Given the description of an element on the screen output the (x, y) to click on. 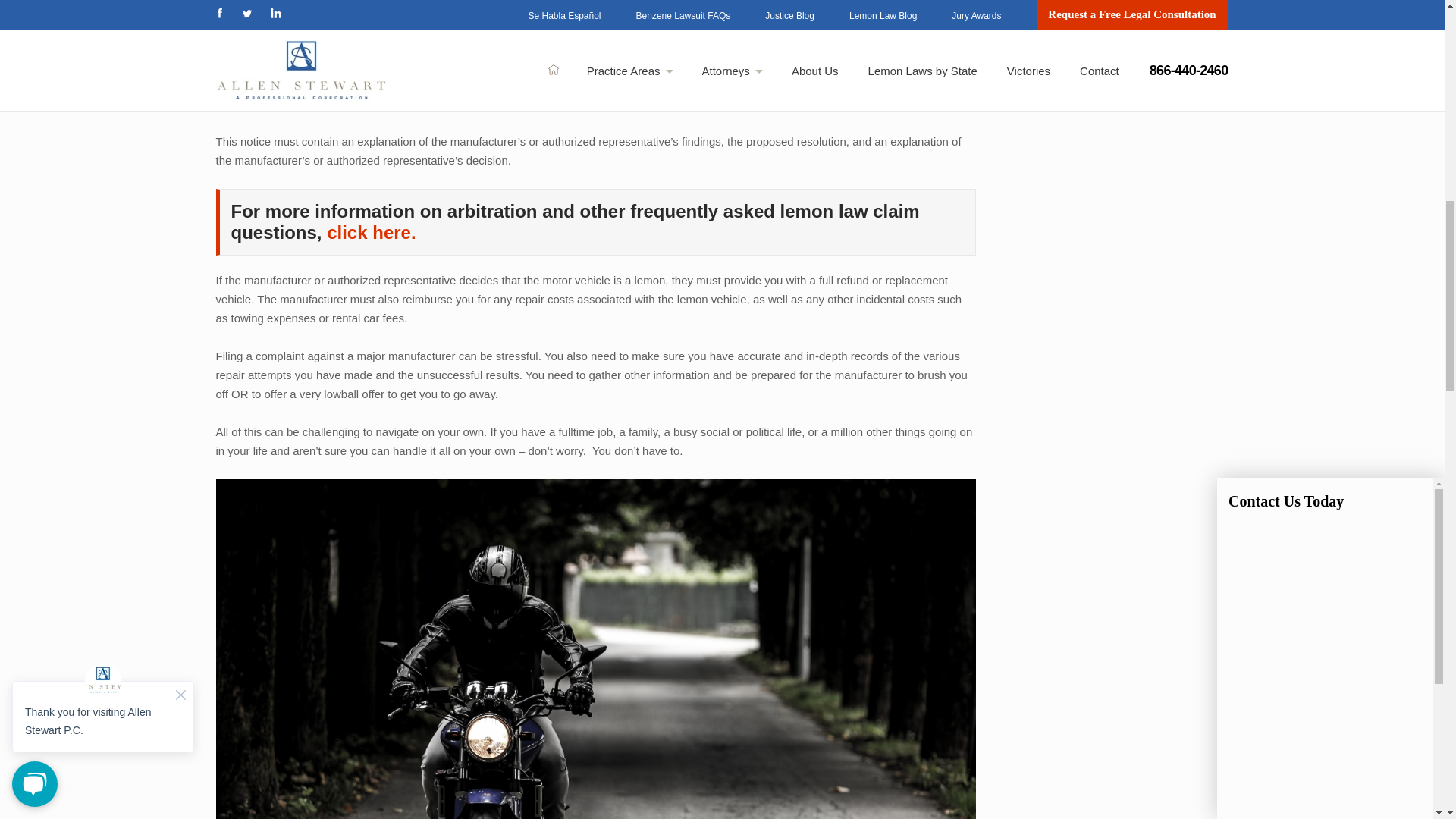
Form 0 (1325, 108)
